Given the description of an element on the screen output the (x, y) to click on. 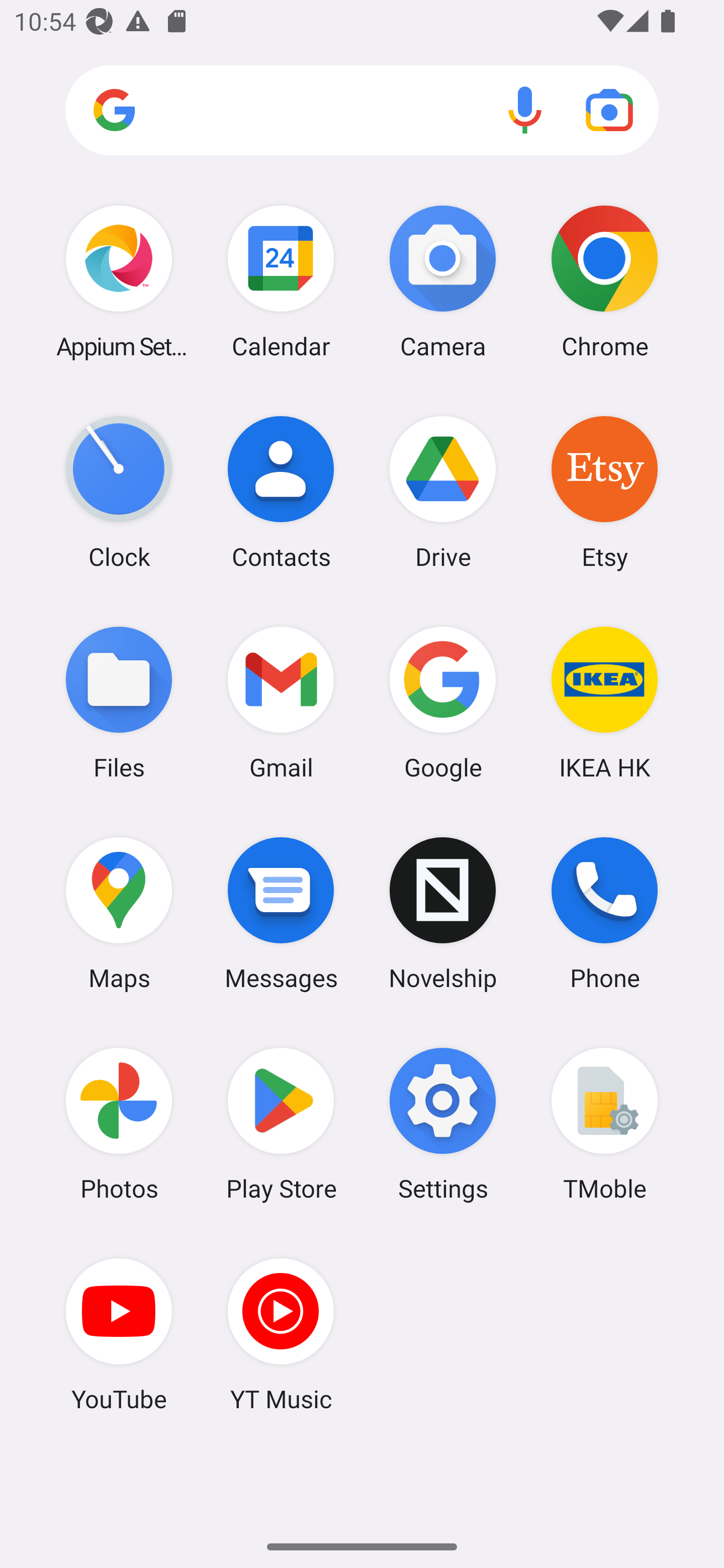
Search apps, web and more (361, 110)
Voice search (524, 109)
Google Lens (608, 109)
Appium Settings (118, 281)
Calendar (280, 281)
Camera (443, 281)
Chrome (604, 281)
Clock (118, 492)
Contacts (280, 492)
Drive (443, 492)
Etsy (604, 492)
Files (118, 702)
Gmail (280, 702)
Google (443, 702)
IKEA HK (604, 702)
Maps (118, 913)
Messages (280, 913)
Novelship (443, 913)
Phone (604, 913)
Photos (118, 1124)
Play Store (280, 1124)
Settings (443, 1124)
TMoble (604, 1124)
YouTube (118, 1334)
YT Music (280, 1334)
